Given the description of an element on the screen output the (x, y) to click on. 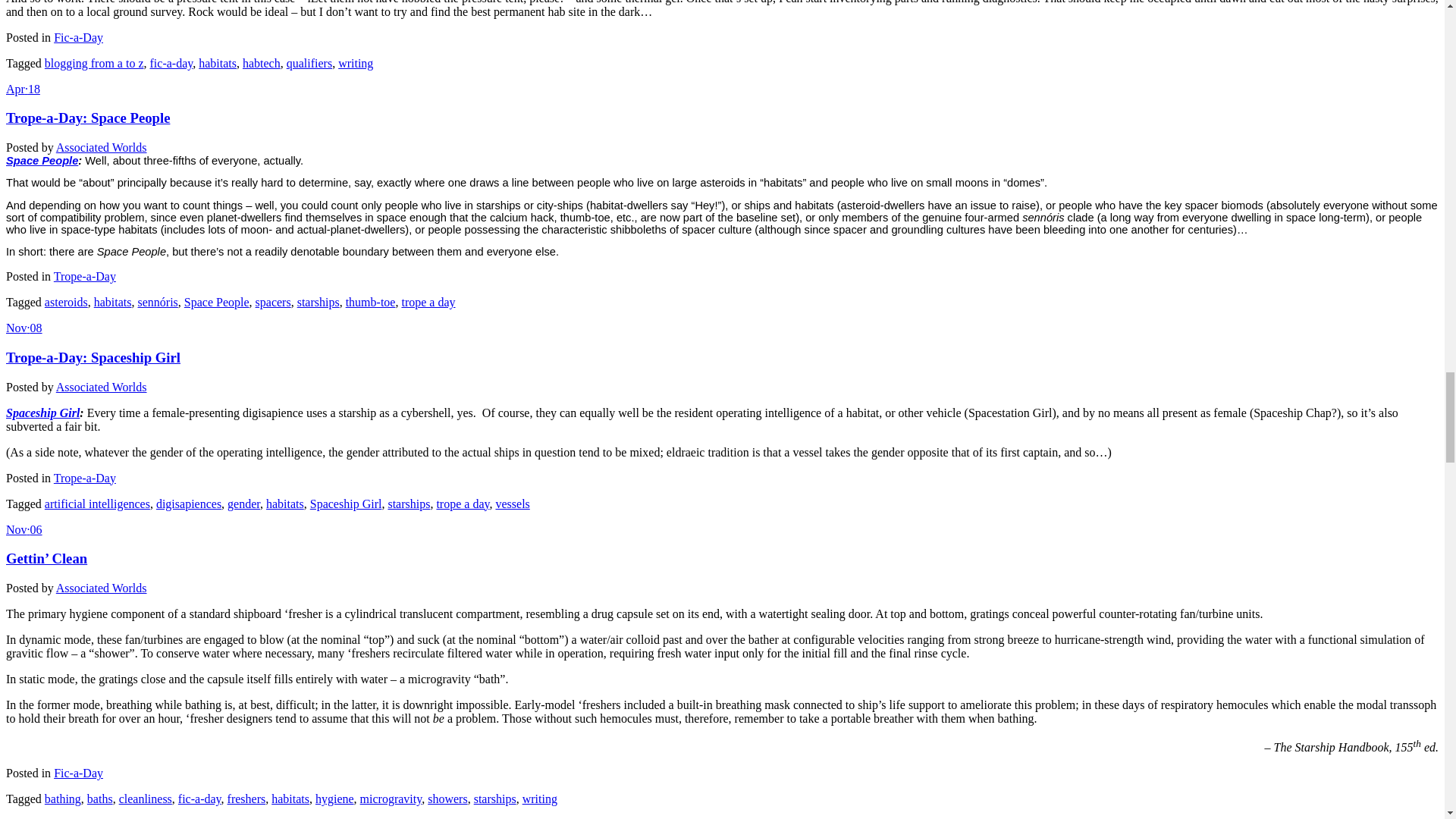
Permalink to Qualifiers (22, 88)
